Given the description of an element on the screen output the (x, y) to click on. 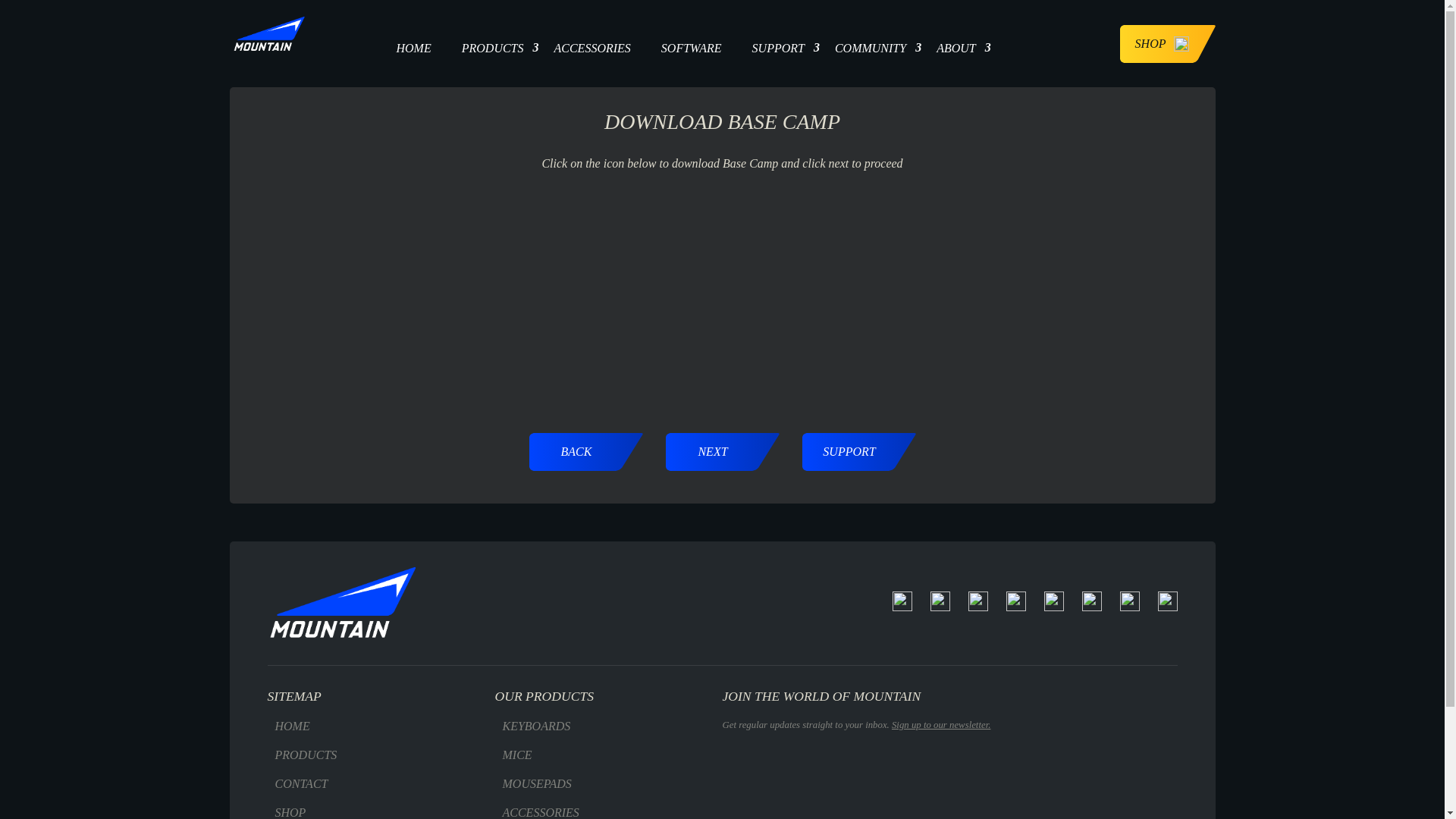
SOFTWARE (691, 43)
COMMUNITY (870, 43)
SUPPORT (777, 43)
ABOUT (956, 43)
ACCESSORIES (591, 43)
HOME (412, 43)
SHOP (1167, 43)
PRODUCTS (492, 43)
